Given the description of an element on the screen output the (x, y) to click on. 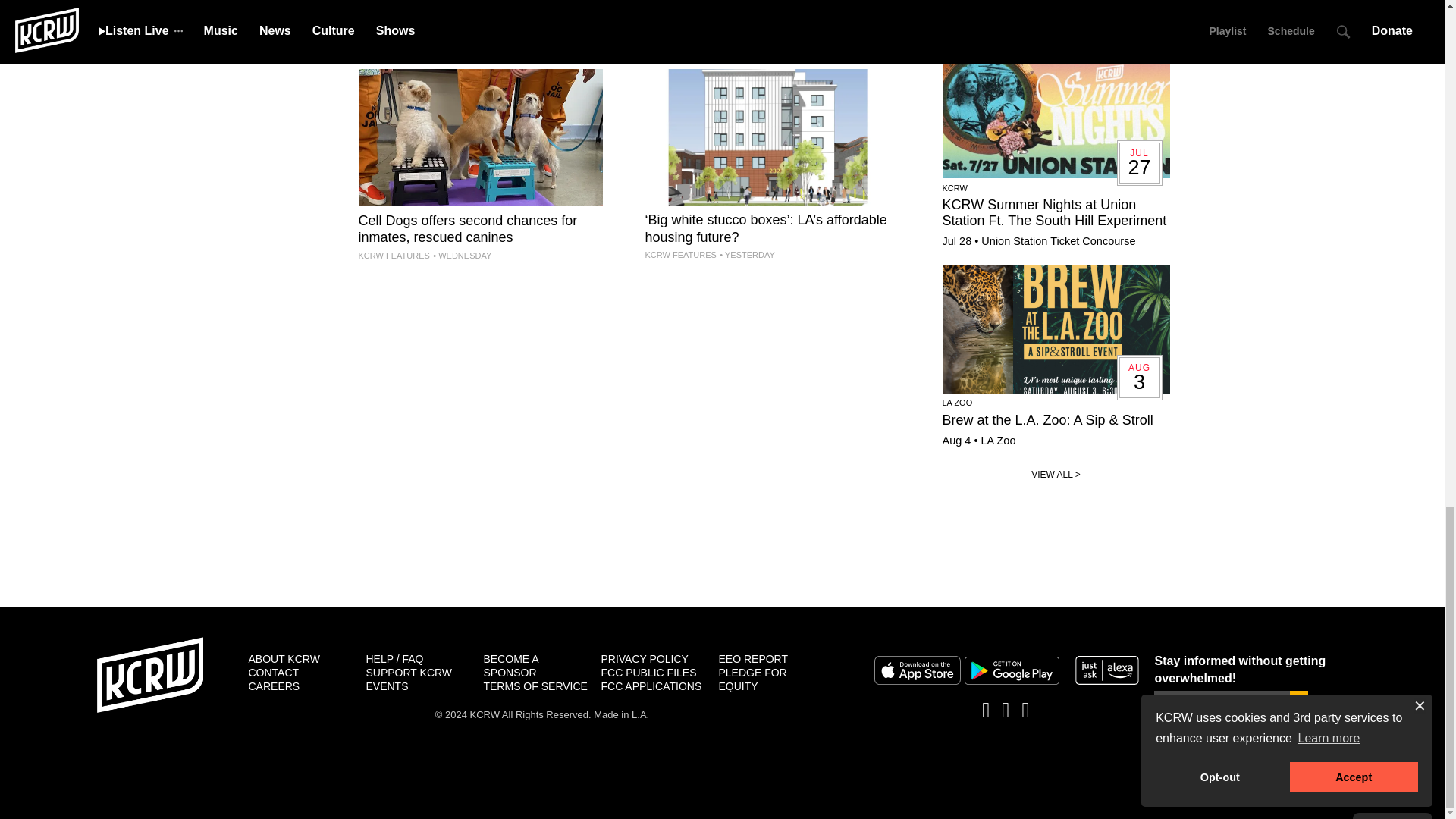
3rd party ad content (721, 564)
Amazon Alexa enabled (1106, 670)
Wednesday, July 24th 2024, 3:00 pm (462, 255)
Get it on Google Play (1011, 670)
Thursday, July 25th 2024, 3:00 pm (746, 254)
Thursday, July 25th 2024, 10:00 pm (433, 28)
Download on the App Store (916, 670)
KCRW (150, 674)
Monday, July 22nd 2024, 12:00 am (731, 44)
